Given the description of an element on the screen output the (x, y) to click on. 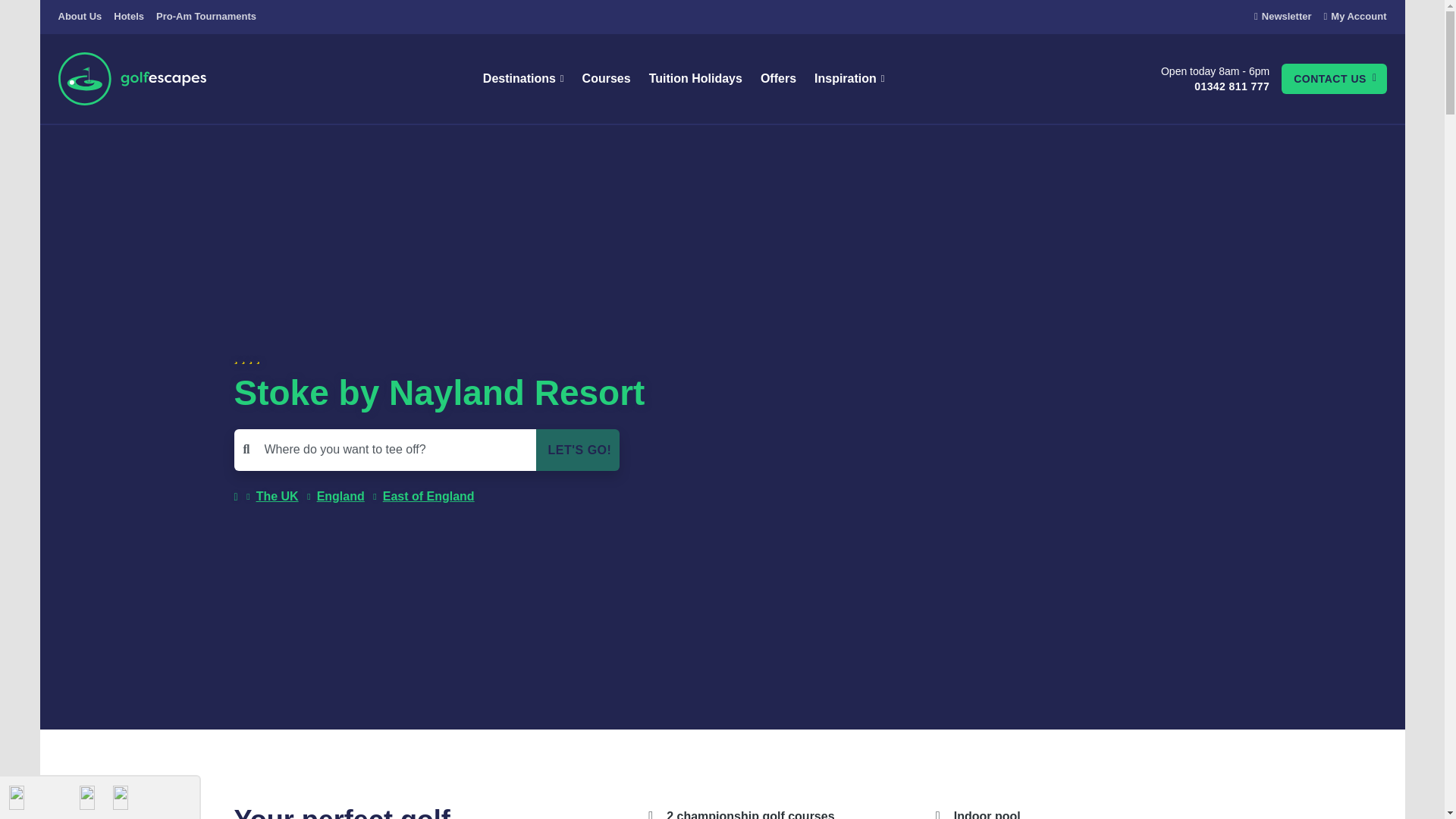
Hotels (128, 16)
Offers (778, 78)
Courses (606, 78)
Destinations (523, 78)
Newsletter (1282, 16)
Pro-Am Tournaments (205, 16)
Let's Go! (576, 449)
About Us (79, 16)
Tuition Holidays (695, 78)
Let's Go! (576, 449)
